Given the description of an element on the screen output the (x, y) to click on. 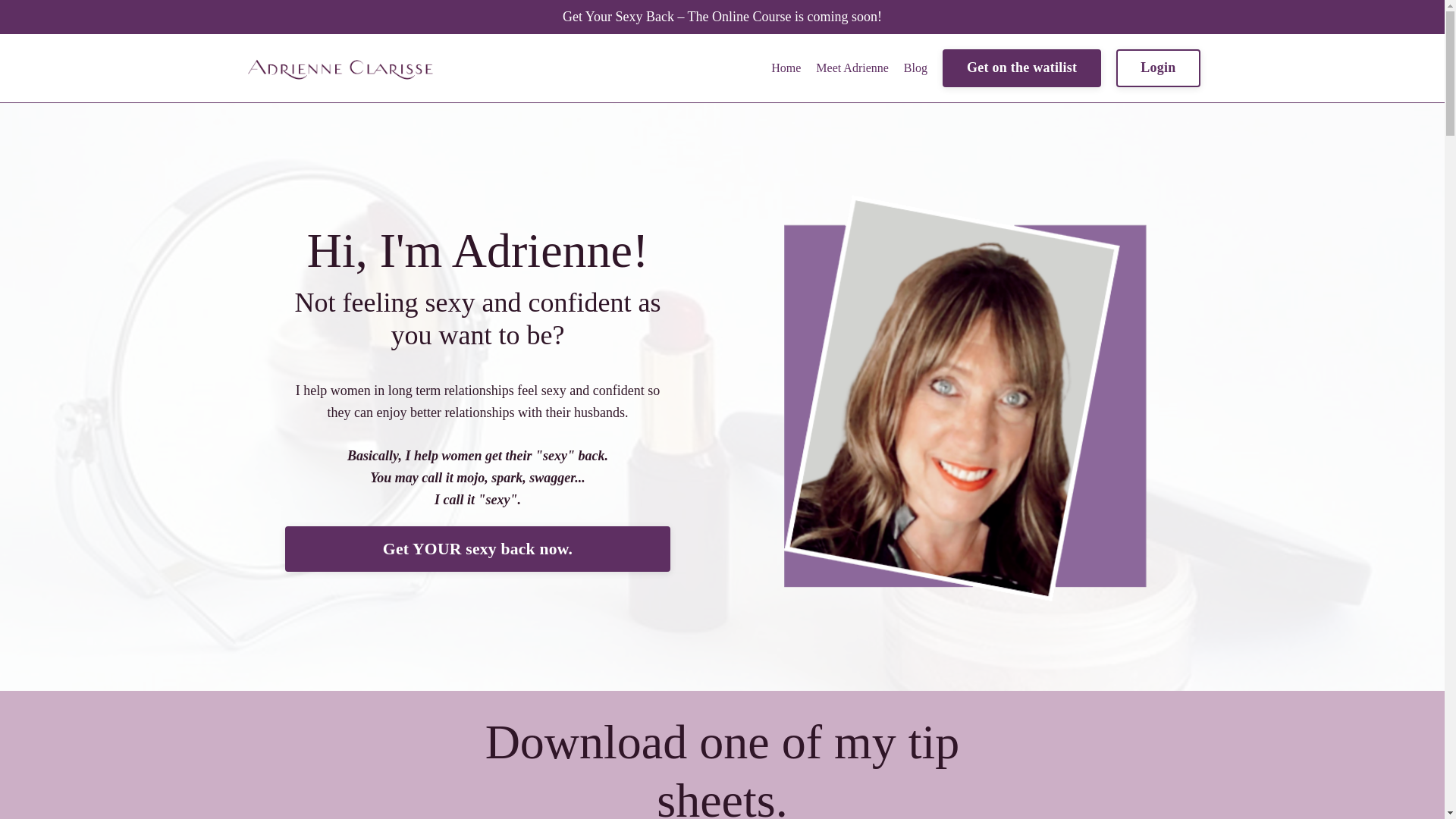
Home (785, 67)
Get YOUR sexy back now. (477, 548)
Meet Adrienne (851, 67)
Get on the watilist (1021, 67)
Blog (915, 67)
Login (1157, 67)
